Given the description of an element on the screen output the (x, y) to click on. 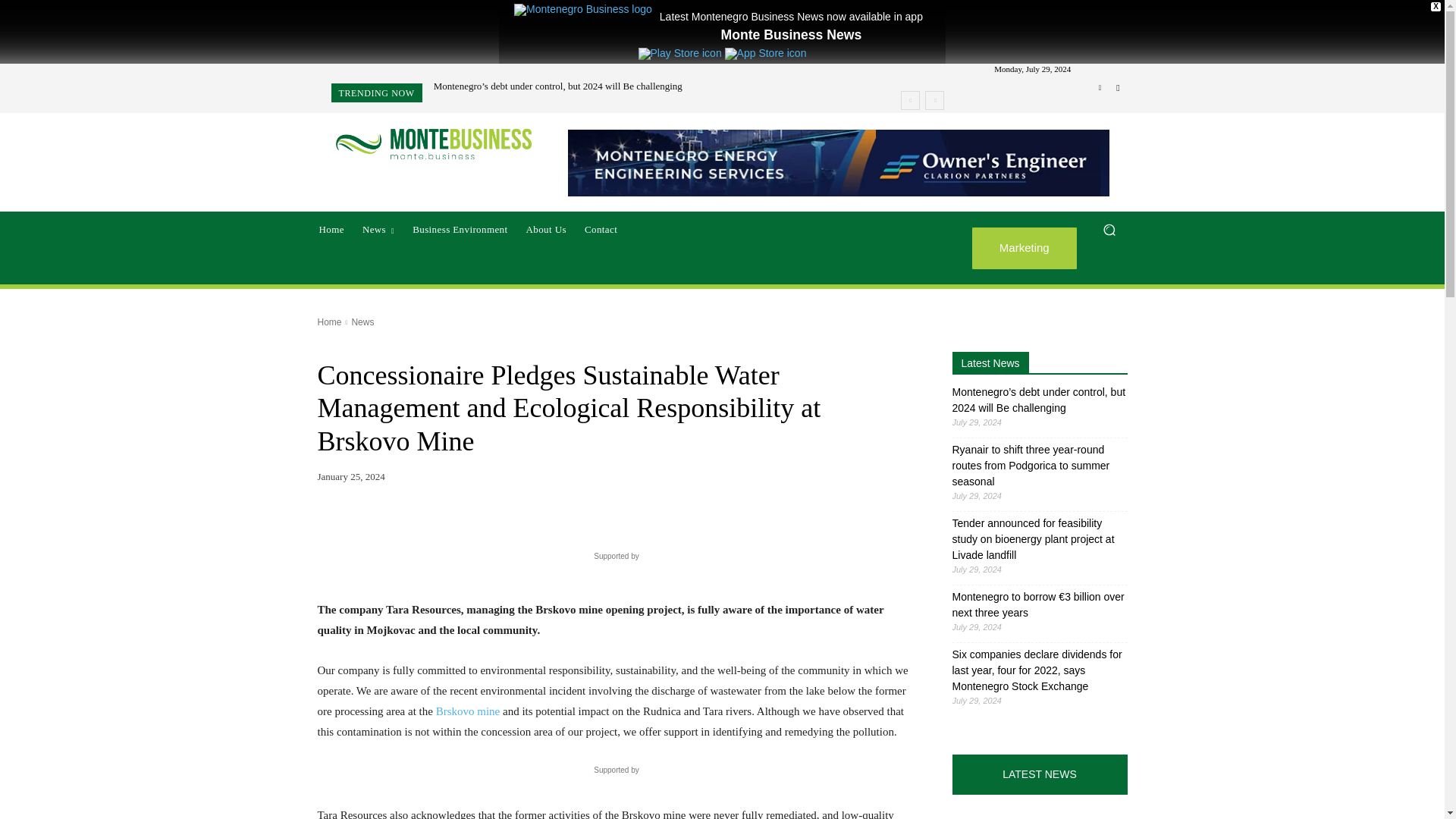
Marketing (1024, 248)
Home (330, 229)
Contact (600, 229)
Linkedin (1099, 87)
Twitter (1117, 87)
Business Environment (459, 229)
Marketing (1024, 248)
About Us (545, 229)
News (378, 229)
